Given the description of an element on the screen output the (x, y) to click on. 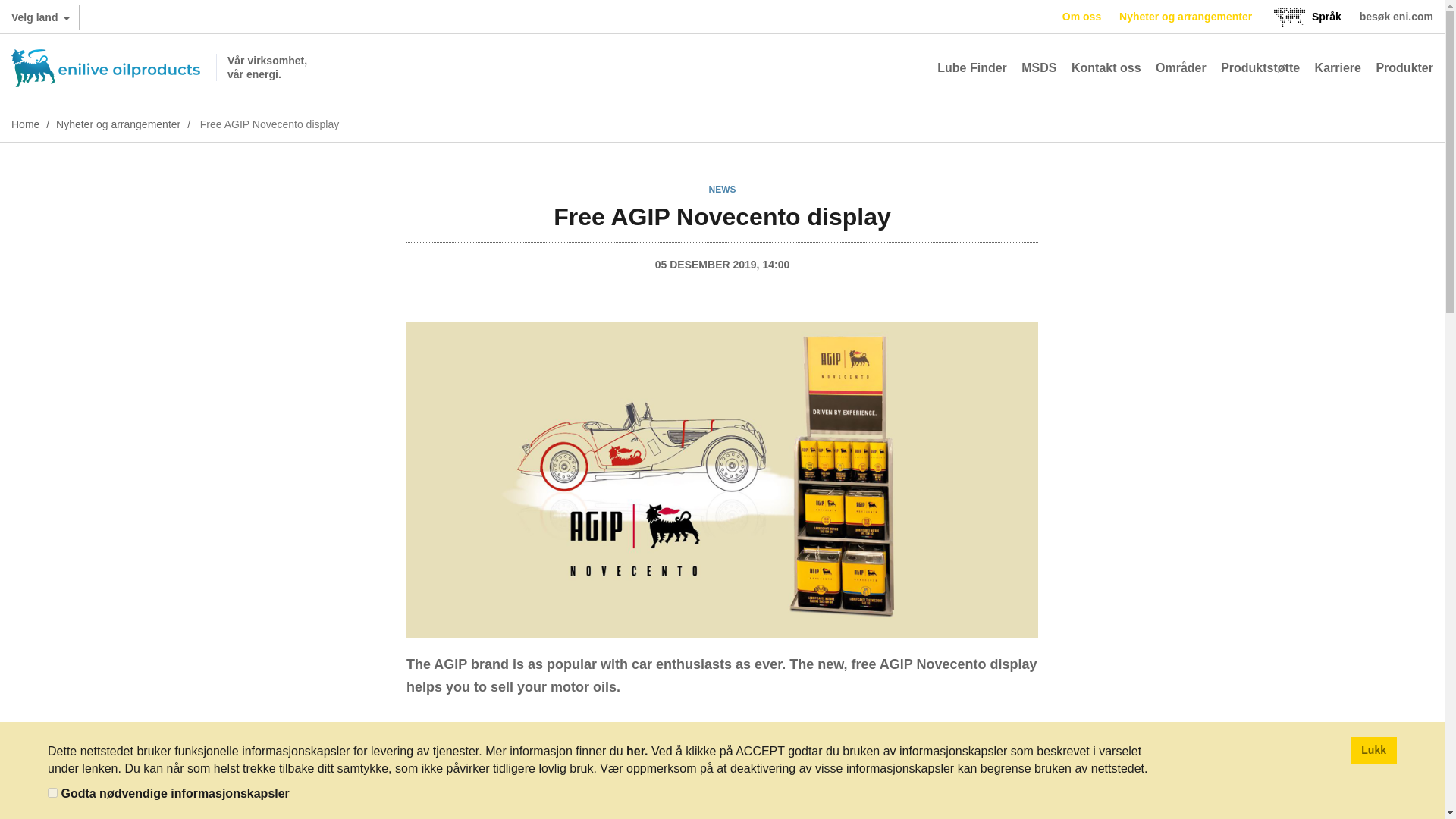
on (53, 792)
Nyheter og arrangementer (1185, 16)
Nyheter og arrangementer (1185, 16)
MSDS (1039, 67)
Lube Finder (972, 67)
Karriere (1337, 67)
Kontakt oss (1106, 67)
Om oss (1081, 16)
Om oss (1081, 16)
Velg land   (40, 17)
MSDS (1039, 67)
Lube Finder (972, 67)
